Given the description of an element on the screen output the (x, y) to click on. 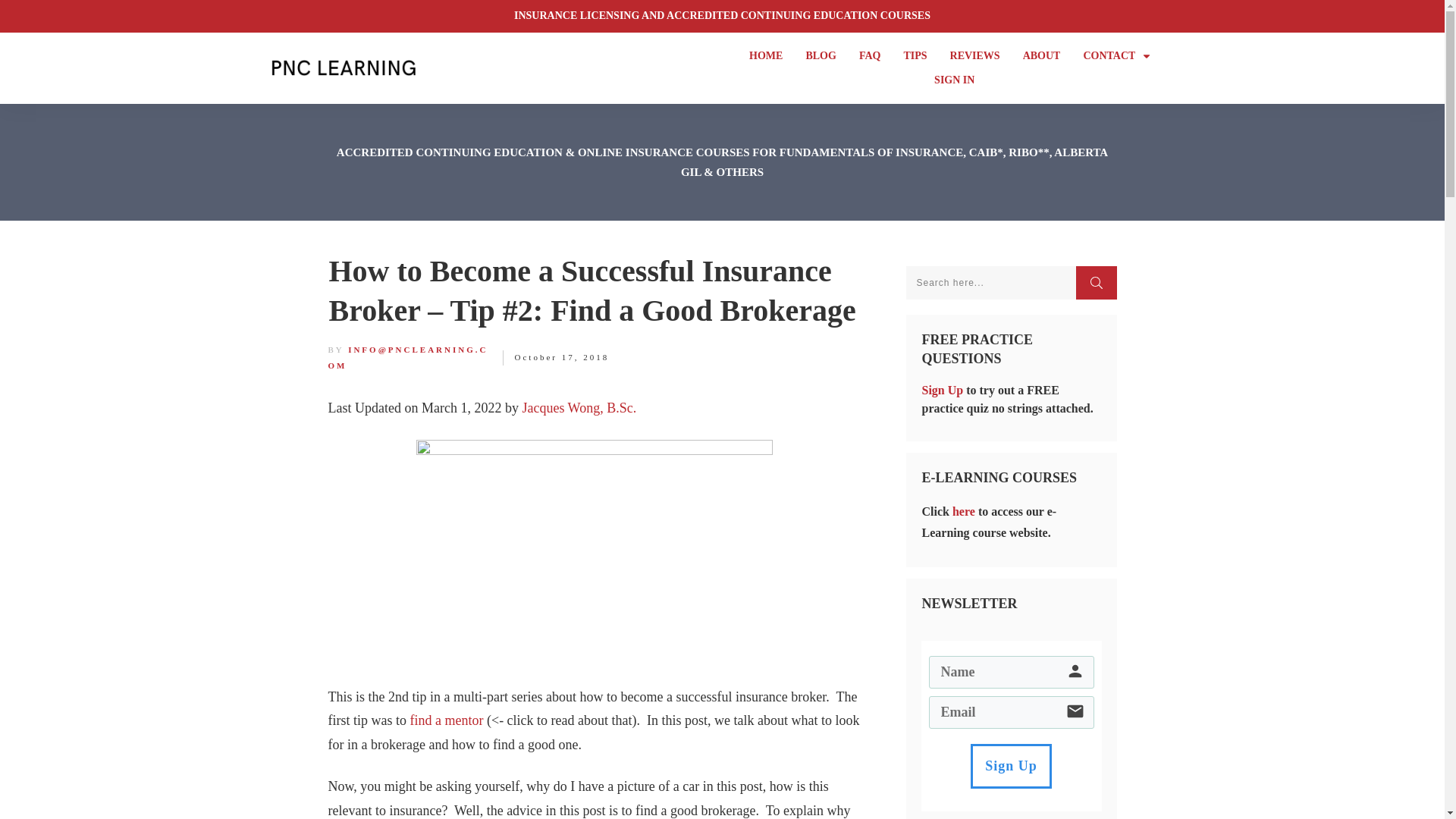
SIGN IN (954, 79)
Jacques Wong, B.Sc. (578, 407)
FAQ (869, 55)
CONTACT (1117, 55)
REVIEWS (975, 55)
here (963, 511)
HOME (766, 55)
Sign Up (942, 390)
Sign Up (1011, 766)
BLOG (820, 55)
TIPS (914, 55)
find a mentor (446, 720)
ABOUT (1042, 55)
